Given the description of an element on the screen output the (x, y) to click on. 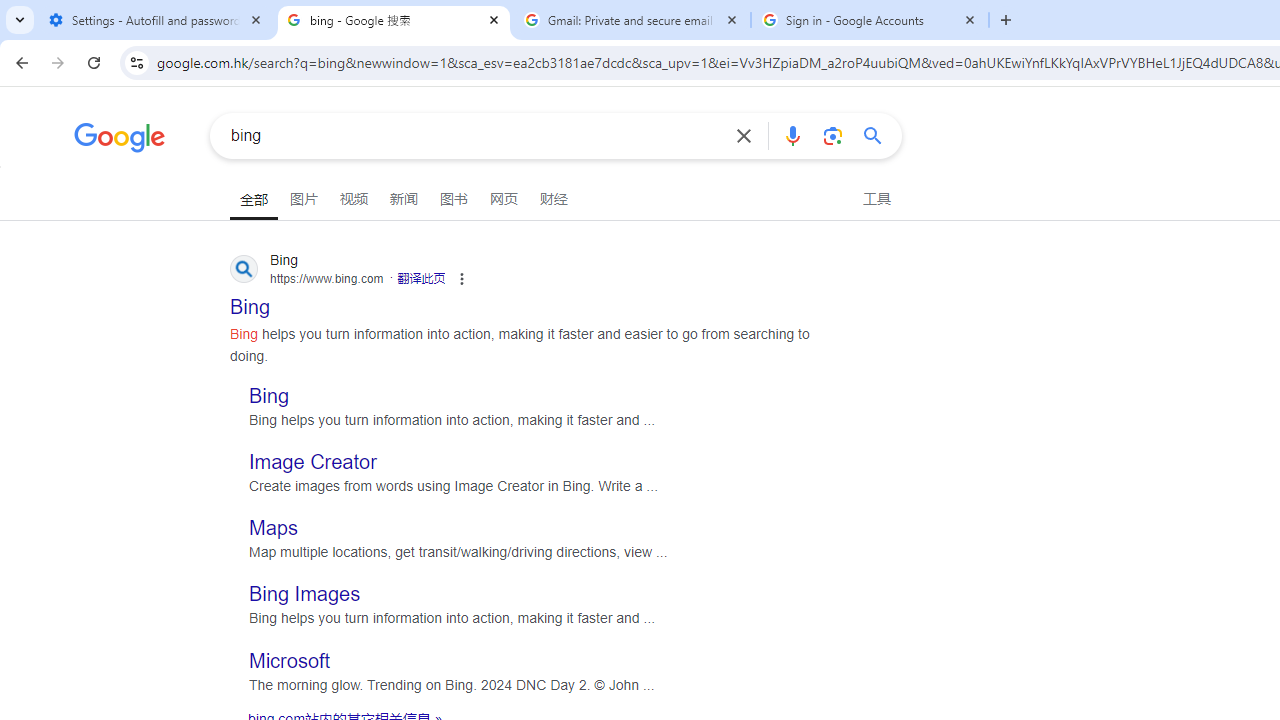
Bing Images (304, 594)
Image Creator (313, 461)
